Given the description of an element on the screen output the (x, y) to click on. 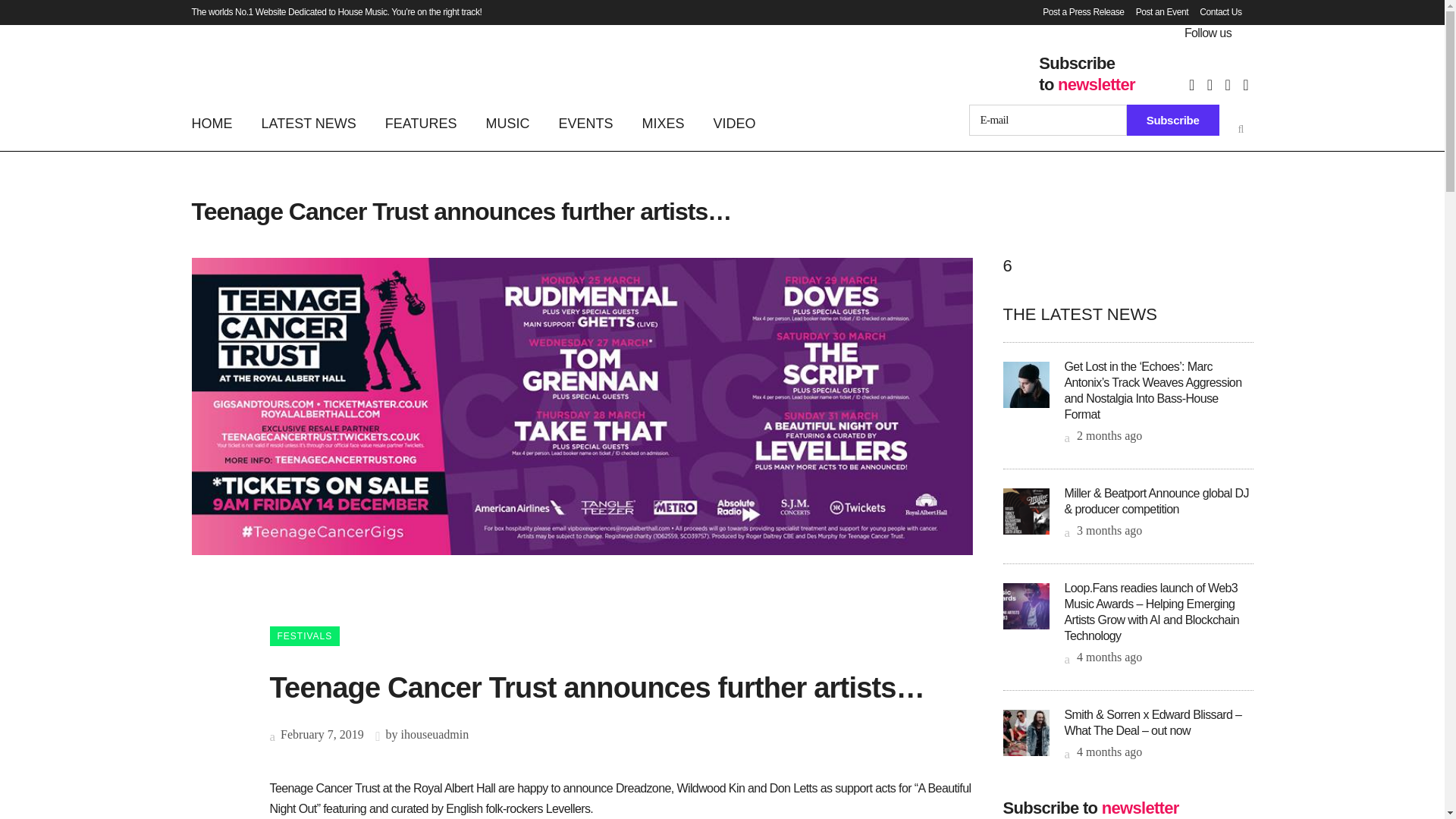
E-mail (1047, 119)
Subscribe (1173, 119)
Contact Us (1214, 12)
Post a Press Release (1077, 12)
FEATURES (421, 123)
HOME (218, 123)
Post an Event (1156, 12)
LATEST NEWS (309, 123)
